Given the description of an element on the screen output the (x, y) to click on. 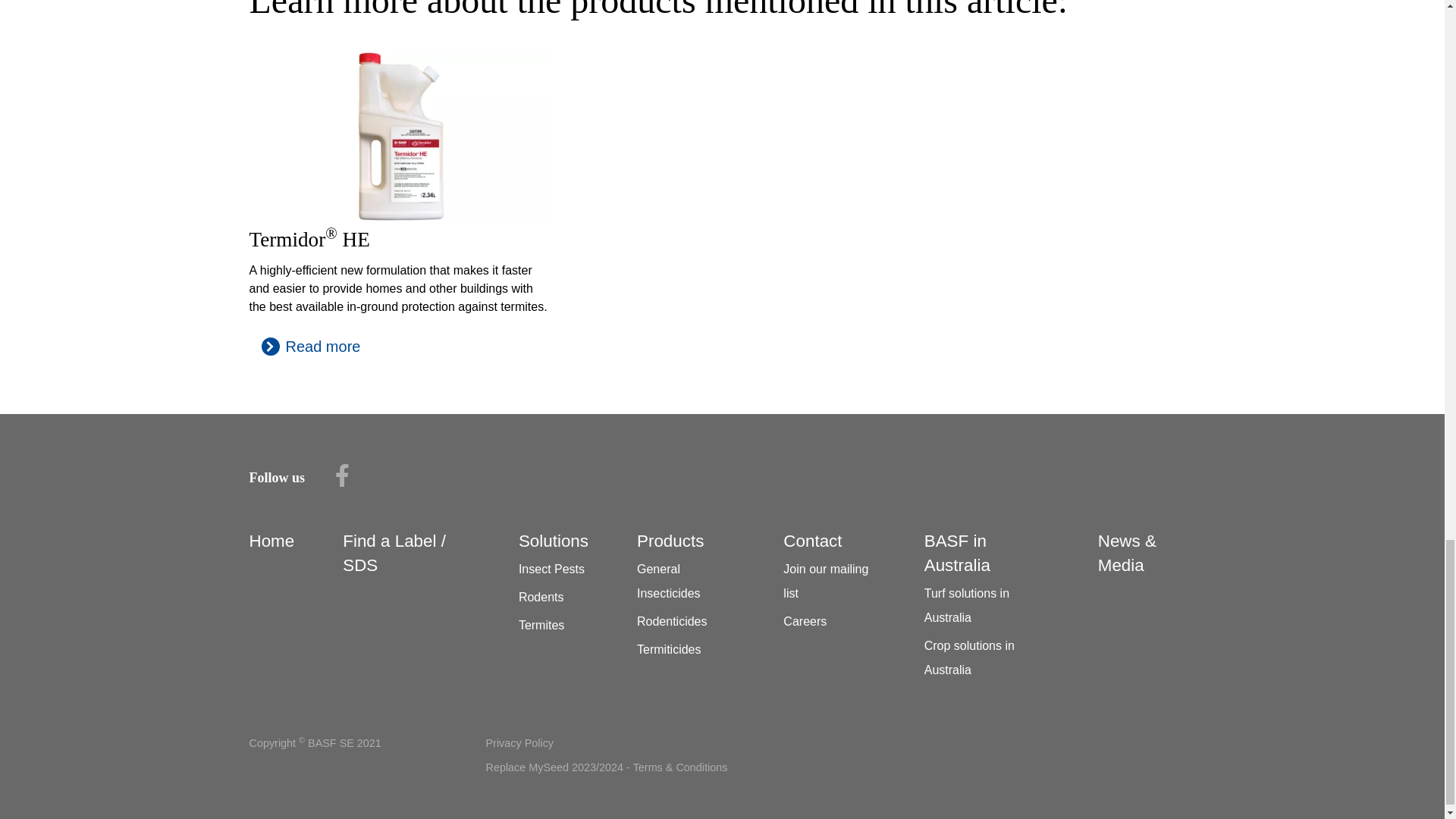
Insect Pests (551, 568)
Read more (310, 346)
Careers (805, 621)
Crop solutions in Australia (969, 657)
Turf solutions in Australia (966, 605)
Products (670, 540)
Rodenticides (672, 621)
Termites (541, 625)
Home (271, 540)
Solutions (553, 540)
Termiticides (668, 649)
BASF in Australia (957, 552)
Rodents (541, 596)
General Insecticides (668, 580)
